Given the description of an element on the screen output the (x, y) to click on. 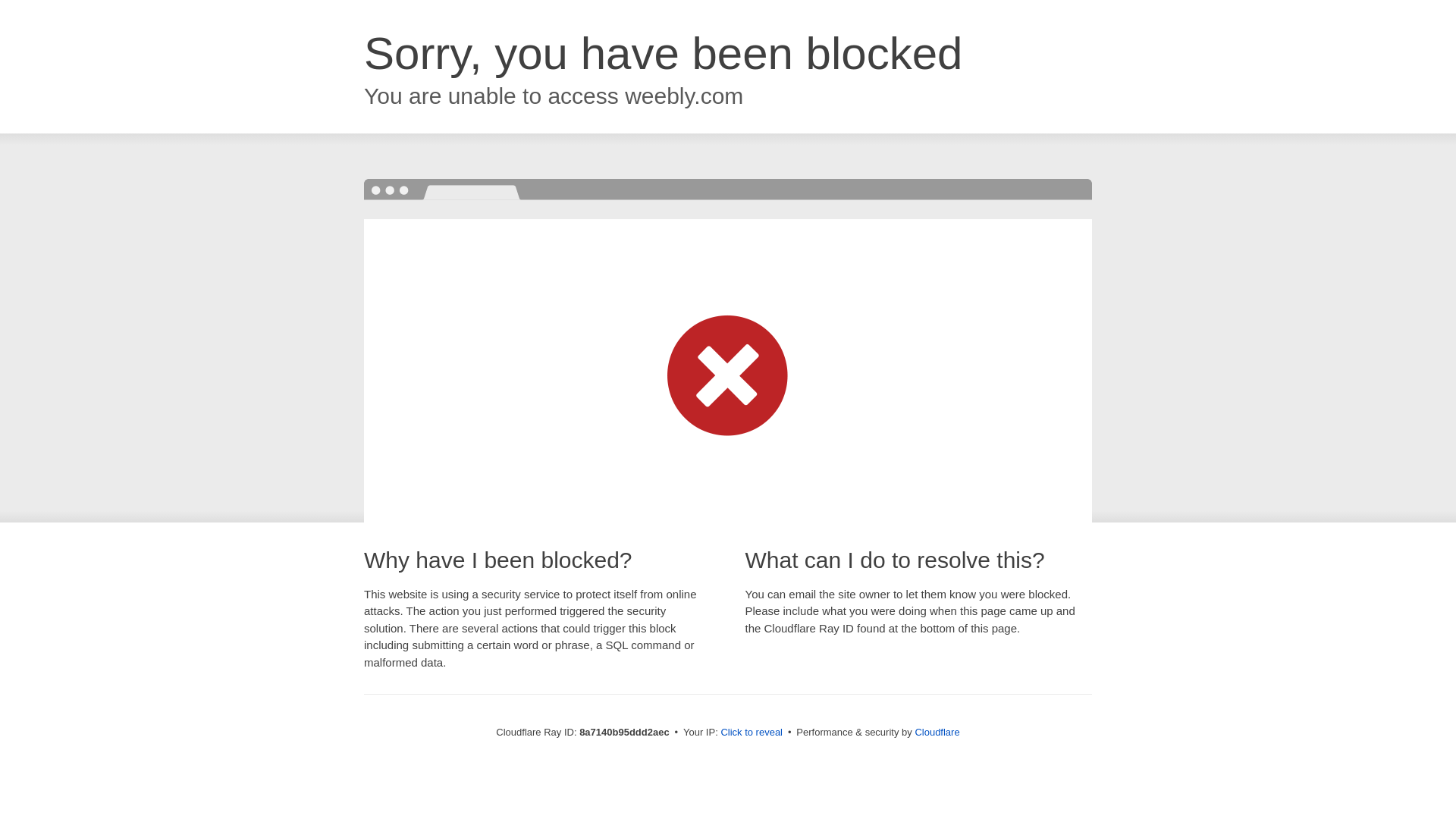
Click to reveal (751, 732)
Cloudflare (936, 731)
